Given the description of an element on the screen output the (x, y) to click on. 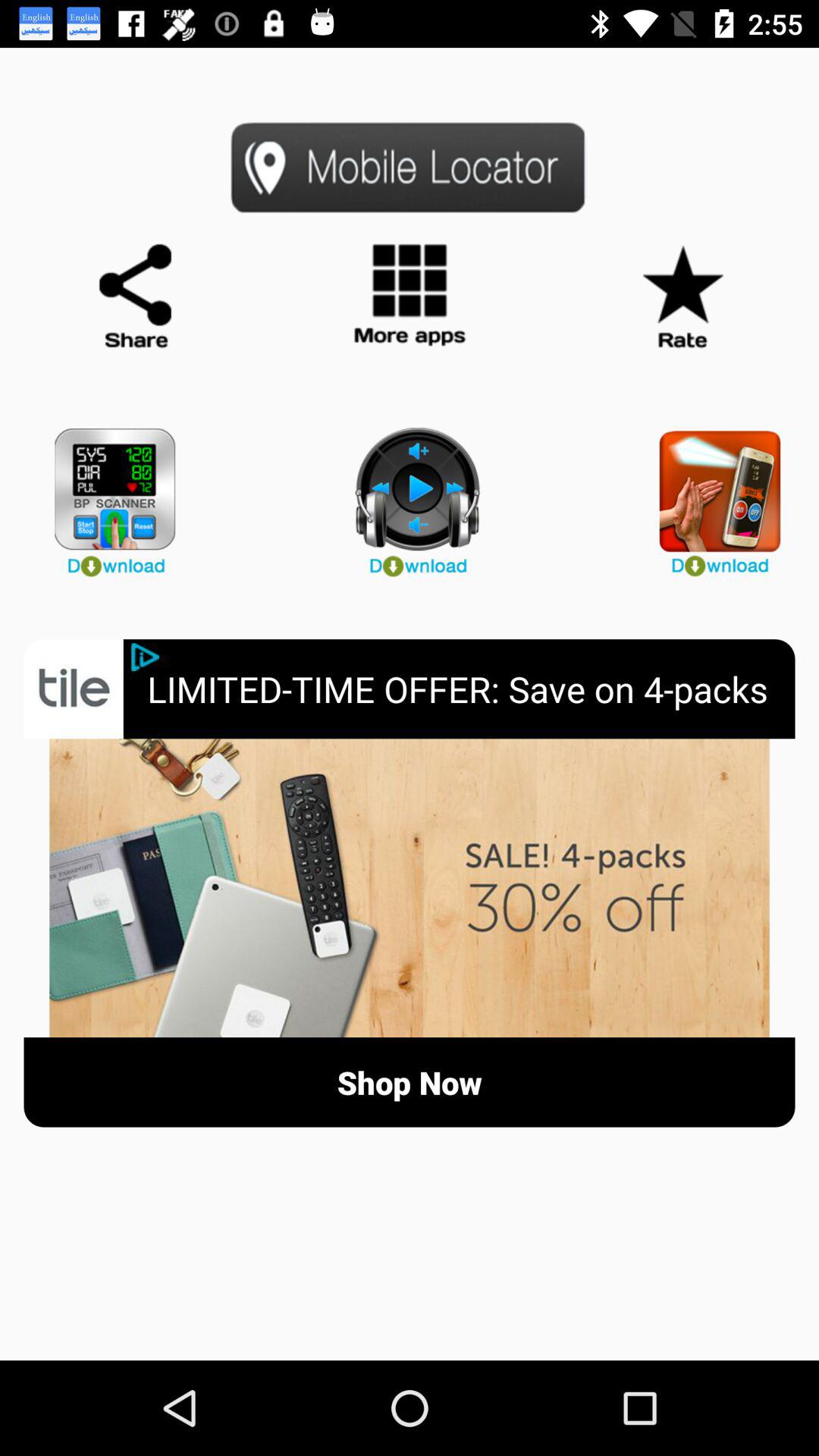
an advertisement (409, 887)
